Given the description of an element on the screen output the (x, y) to click on. 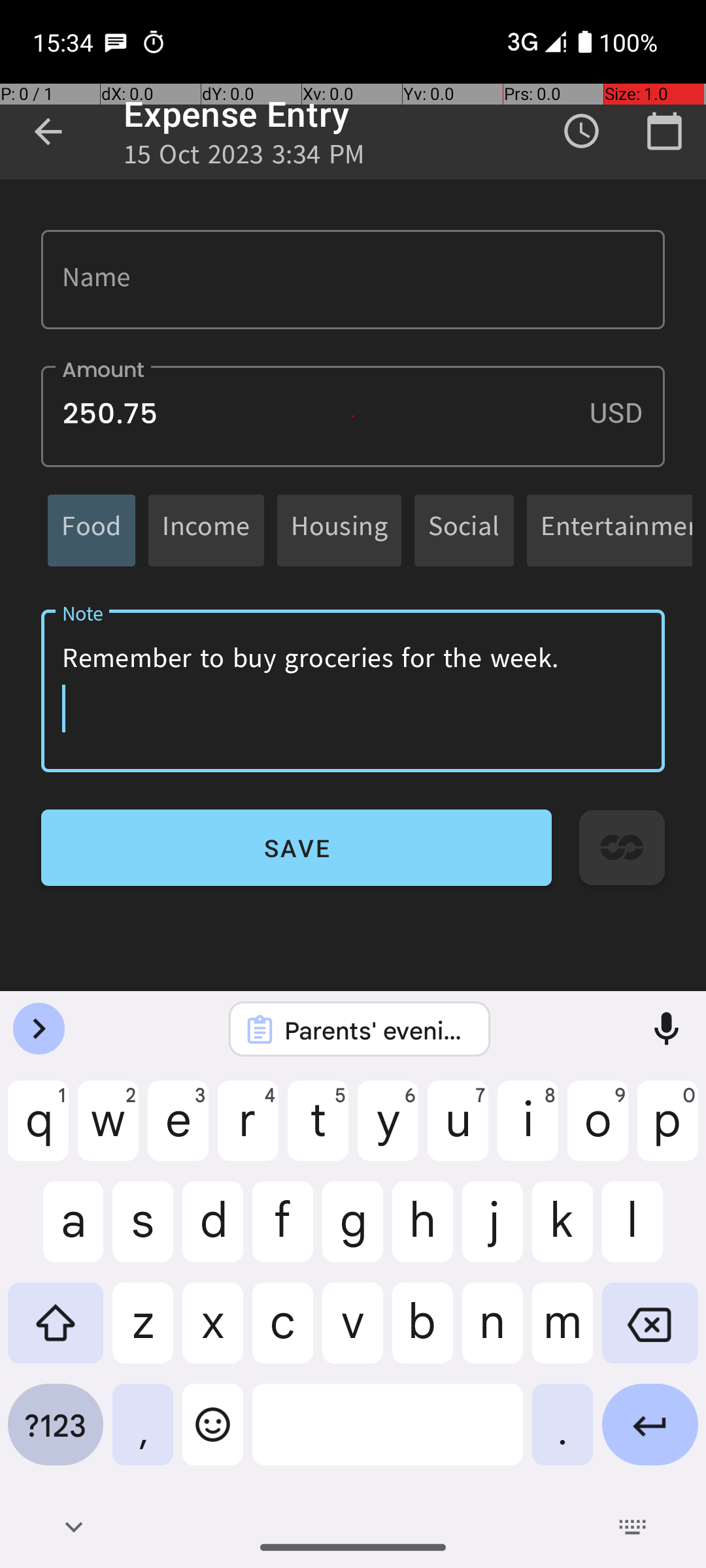
Remember to buy groceries for the week.
 Element type: android.widget.EditText (352, 690)
Parents' evening at school this Wednesday. Element type: android.widget.TextView (376, 1029)
